Given the description of an element on the screen output the (x, y) to click on. 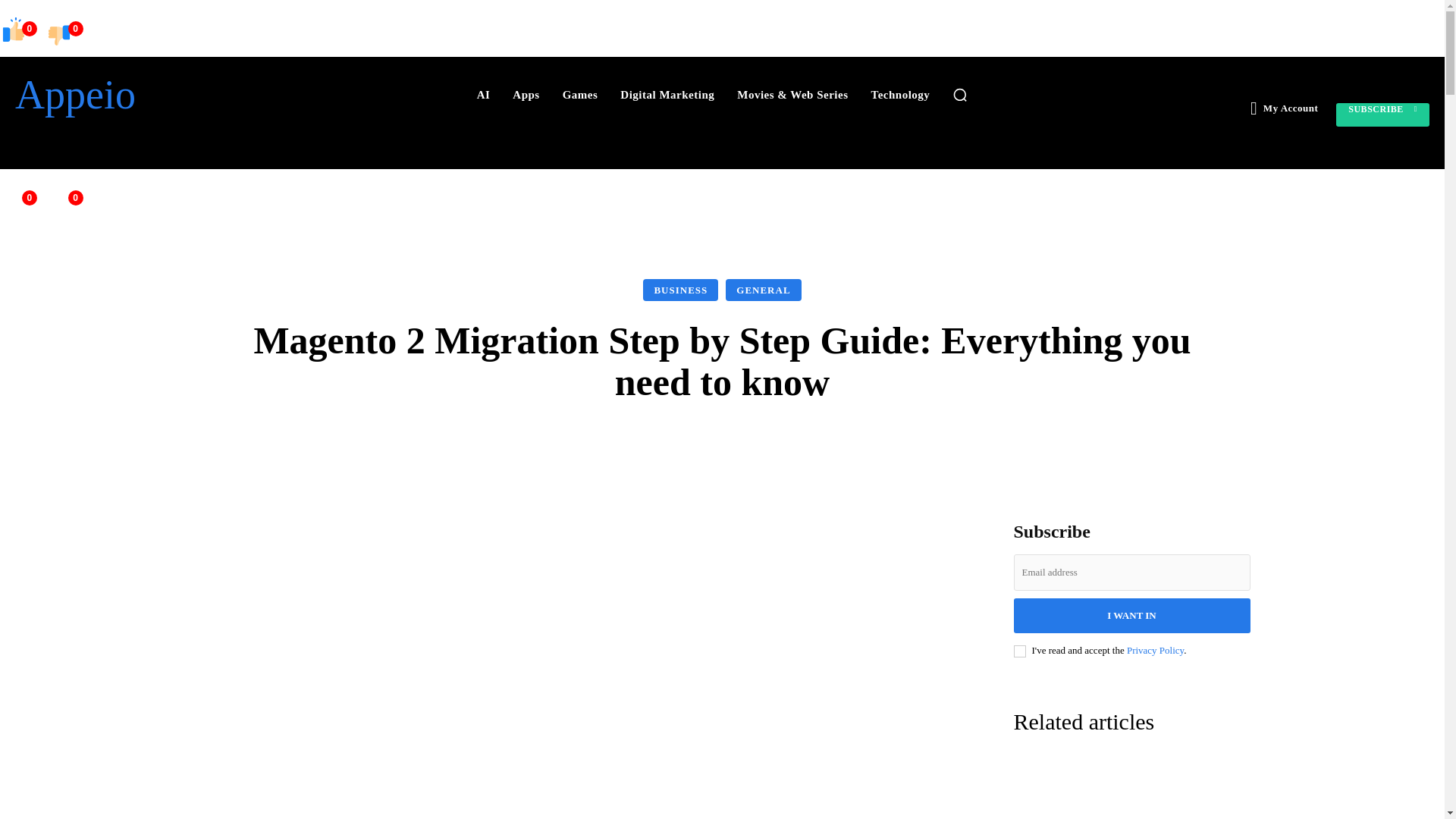
Appeio (127, 94)
Digital Marketing (667, 94)
SUBSCRIBE (1382, 114)
Appeio (127, 94)
Technology (900, 94)
Subscribe (1382, 114)
